Given the description of an element on the screen output the (x, y) to click on. 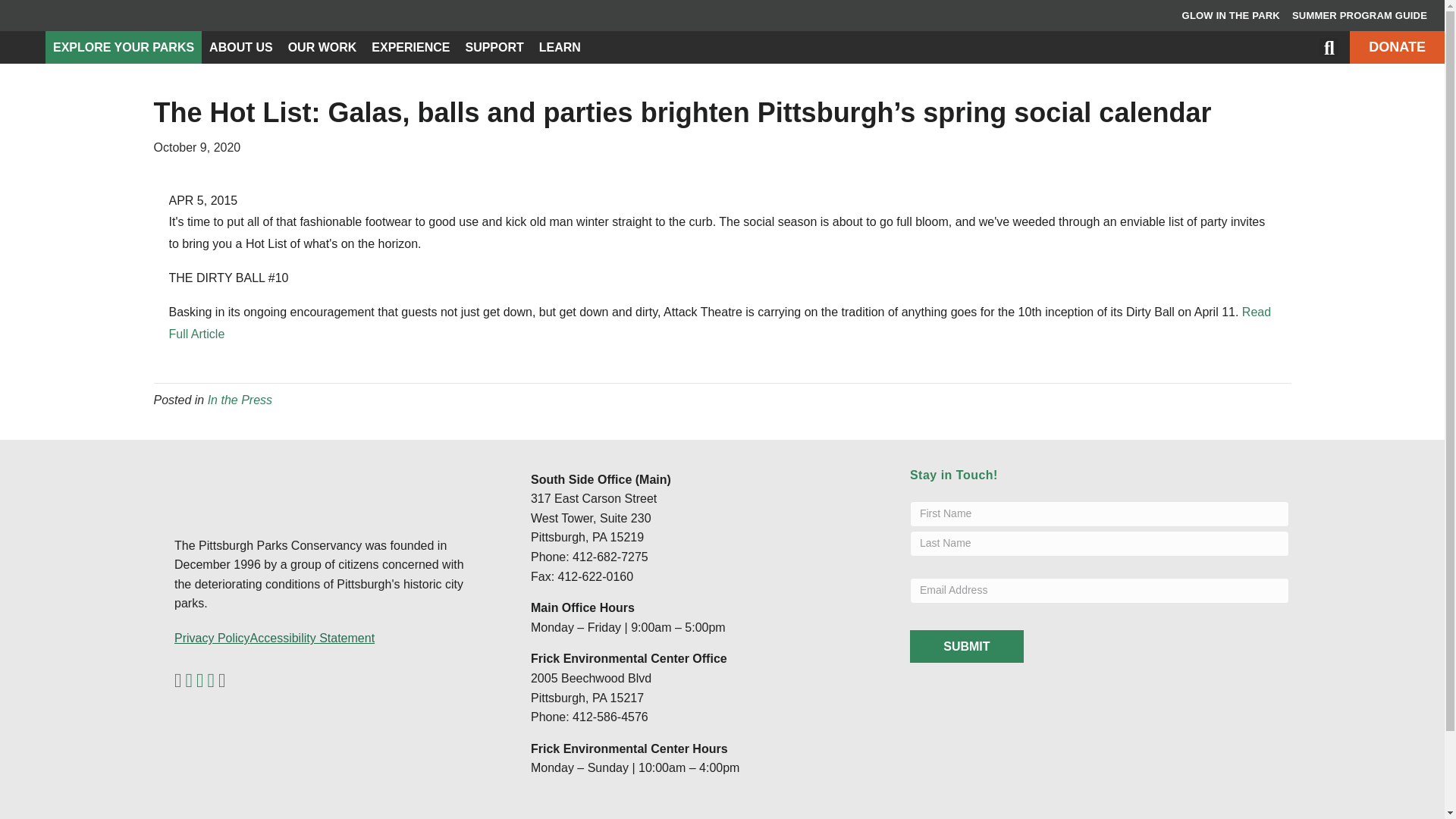
EXPERIENCE (410, 47)
PPC Logo Horizontal Cropped (250, 485)
PPC P Icon (22, 47)
SUMMER PROGRAM GUIDE (1358, 16)
LinkedIn (199, 680)
OUR WORK (323, 47)
First Name (1099, 514)
Email Address (1099, 590)
Last Name (1099, 543)
Twitter (188, 680)
Instagram  (221, 680)
GLOW IN THE PARK (1230, 16)
Submit (966, 645)
Youtube (211, 680)
ABOUT US (241, 47)
